Given the description of an element on the screen output the (x, y) to click on. 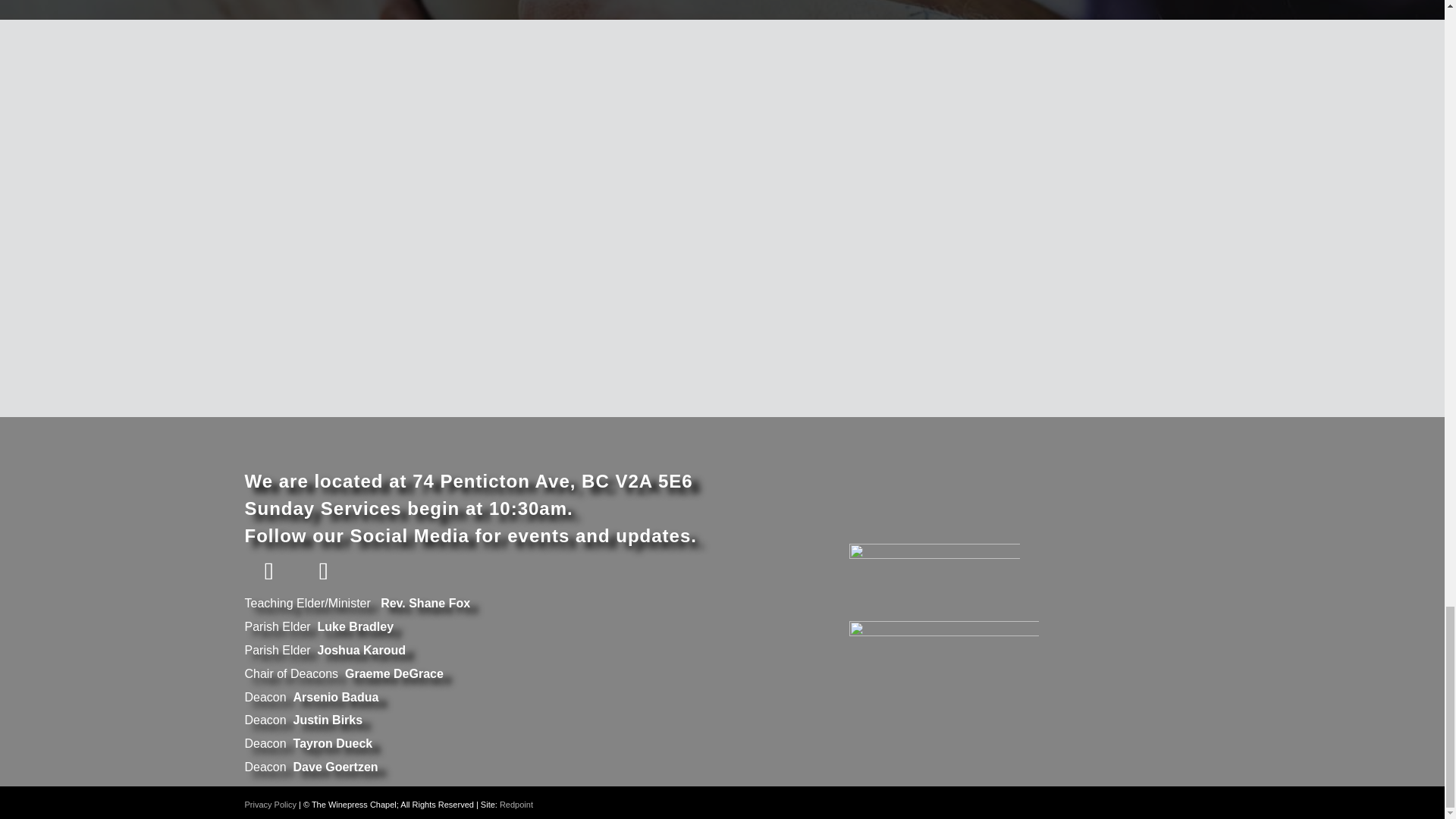
Follow on Facebook (268, 571)
Privacy Policy (269, 804)
Follow on Instagram (322, 571)
Redpoint (515, 804)
